Given the description of an element on the screen output the (x, y) to click on. 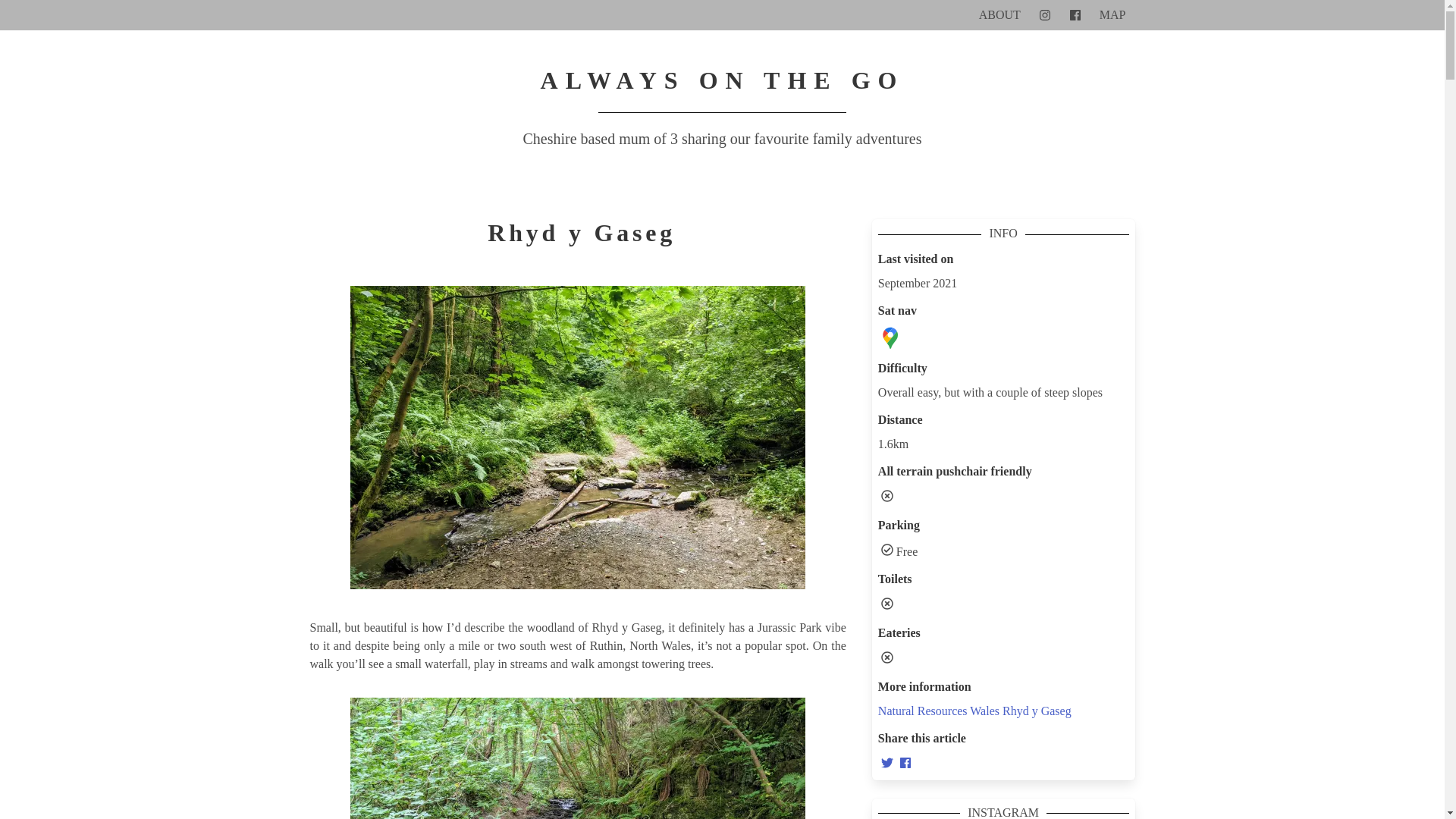
Natural Resources Wales Rhyd y Gaseg (974, 710)
ABOUT (999, 15)
MAP (1112, 15)
Share on Facebook (905, 764)
